Given the description of an element on the screen output the (x, y) to click on. 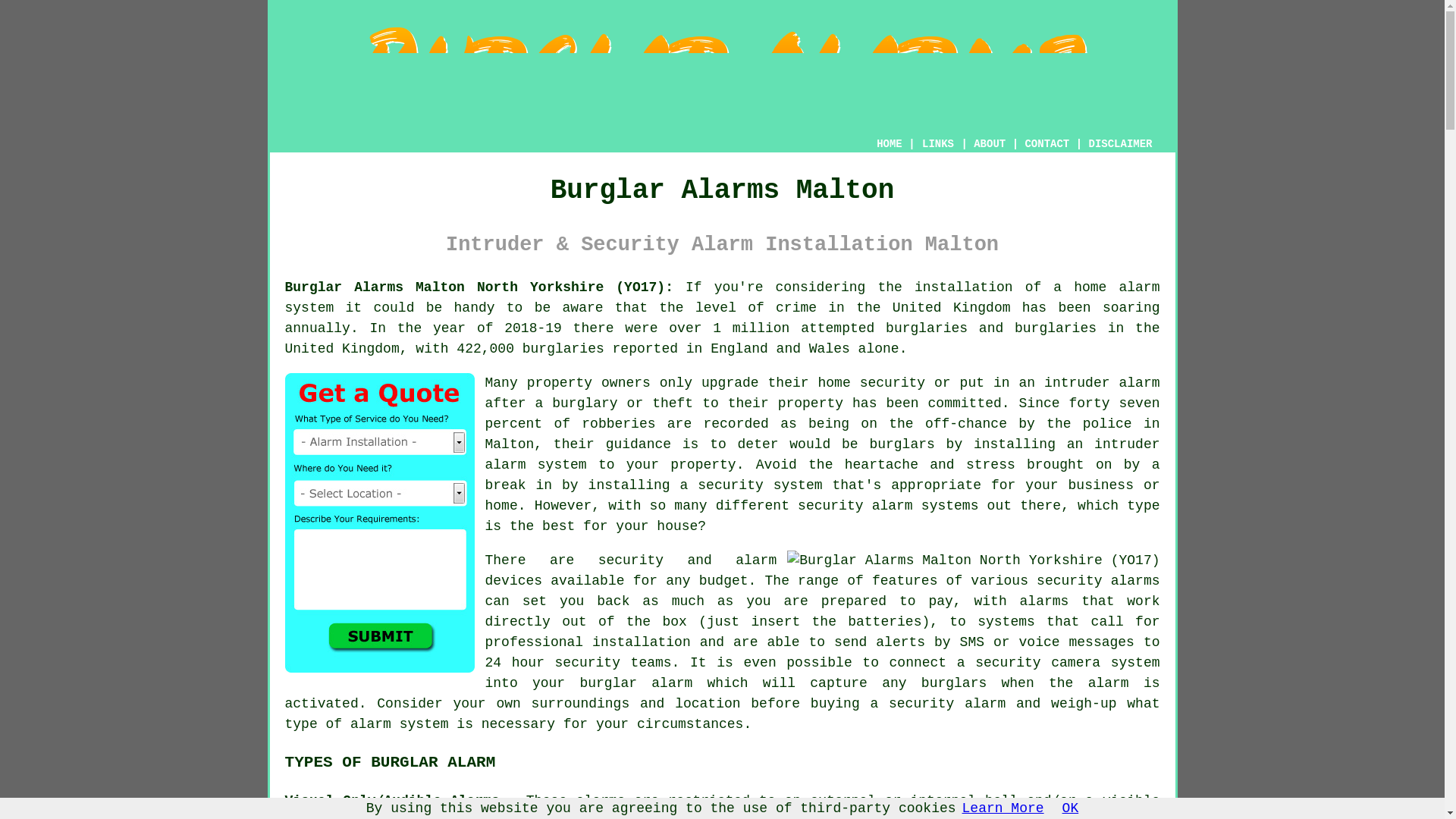
alarm (555, 816)
HOME (889, 143)
LINKS (938, 143)
